Given the description of an element on the screen output the (x, y) to click on. 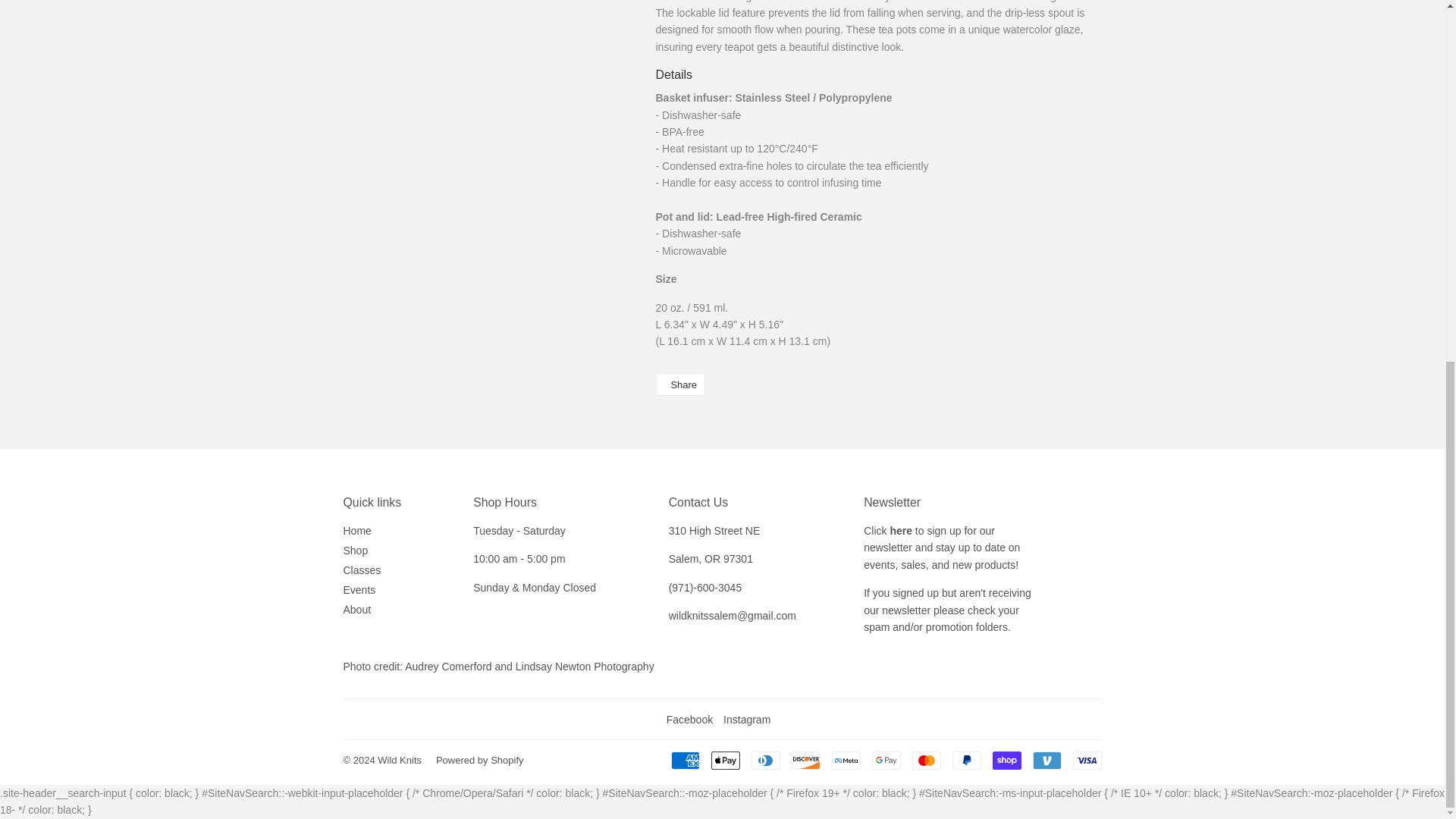
Visa (1085, 760)
Shop Pay (1005, 760)
Wild Knits Newsletter Sign Up Link (900, 530)
Mastercard (925, 760)
Google Pay (886, 760)
Wild Knits on Facebook (689, 719)
Meta Pay (845, 760)
PayPal (966, 760)
Venmo (1046, 760)
Wild Knits on Instagram (746, 719)
Apple Pay (725, 760)
American Express (683, 760)
Discover (806, 760)
Diners Club (764, 760)
Share on Facebook (679, 384)
